Given the description of an element on the screen output the (x, y) to click on. 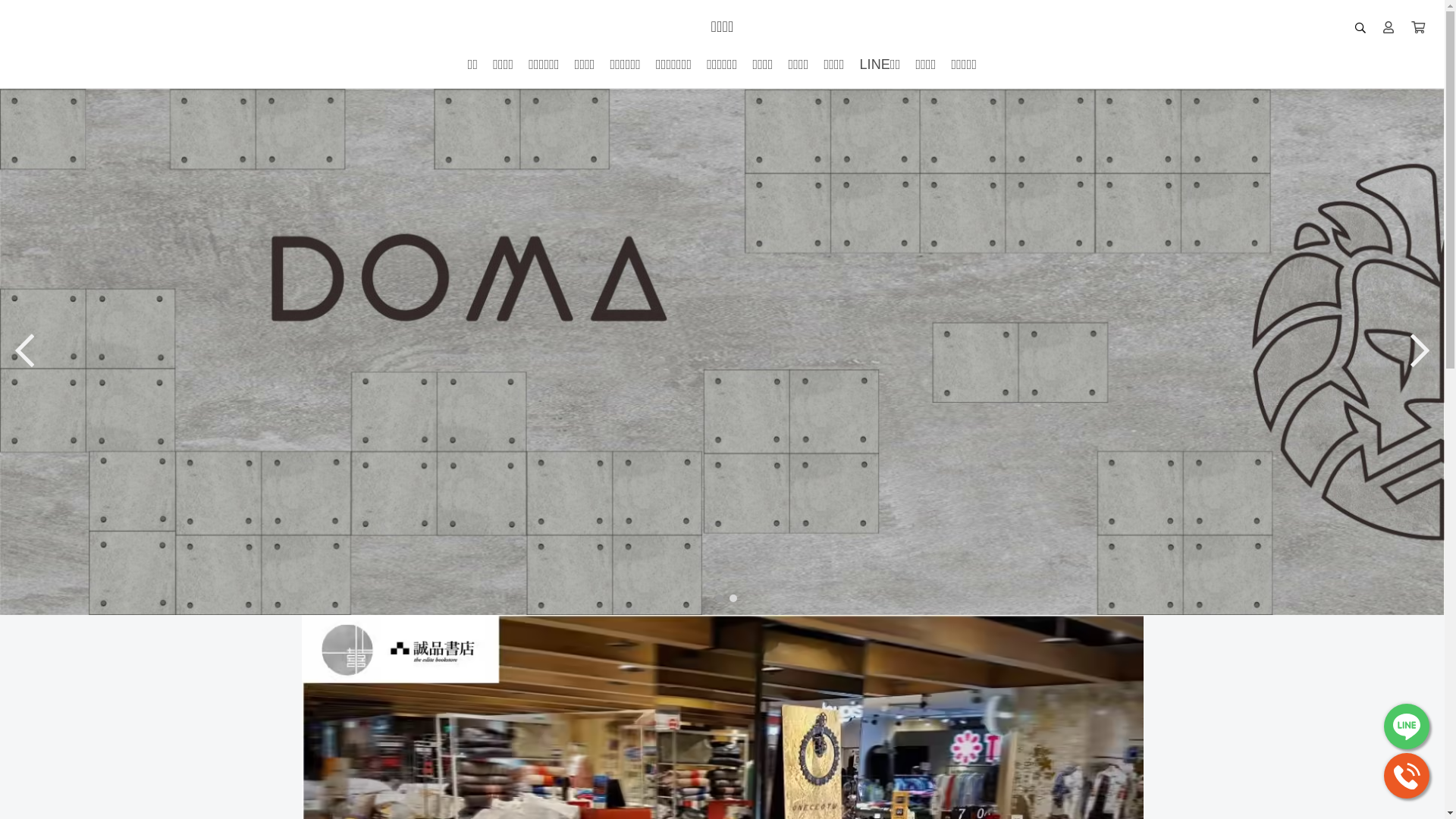
1 Element type: text (715, 597)
2 Element type: text (729, 597)
